Given the description of an element on the screen output the (x, y) to click on. 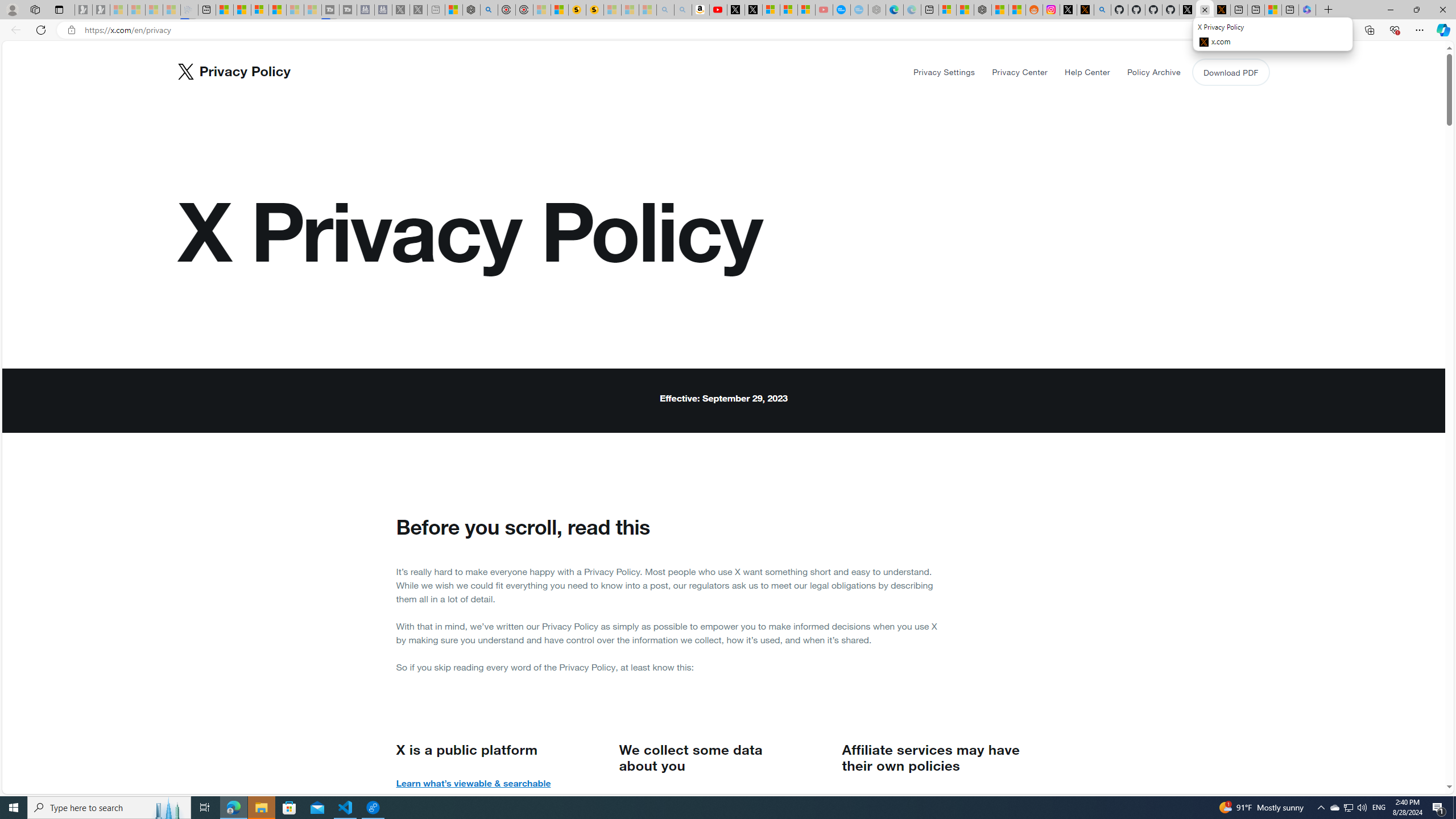
Opinion: Op-Ed and Commentary - USA TODAY (842, 9)
github - Search (1102, 9)
Policy Archive (1153, 71)
Profile / X (1187, 9)
